Given the description of an element on the screen output the (x, y) to click on. 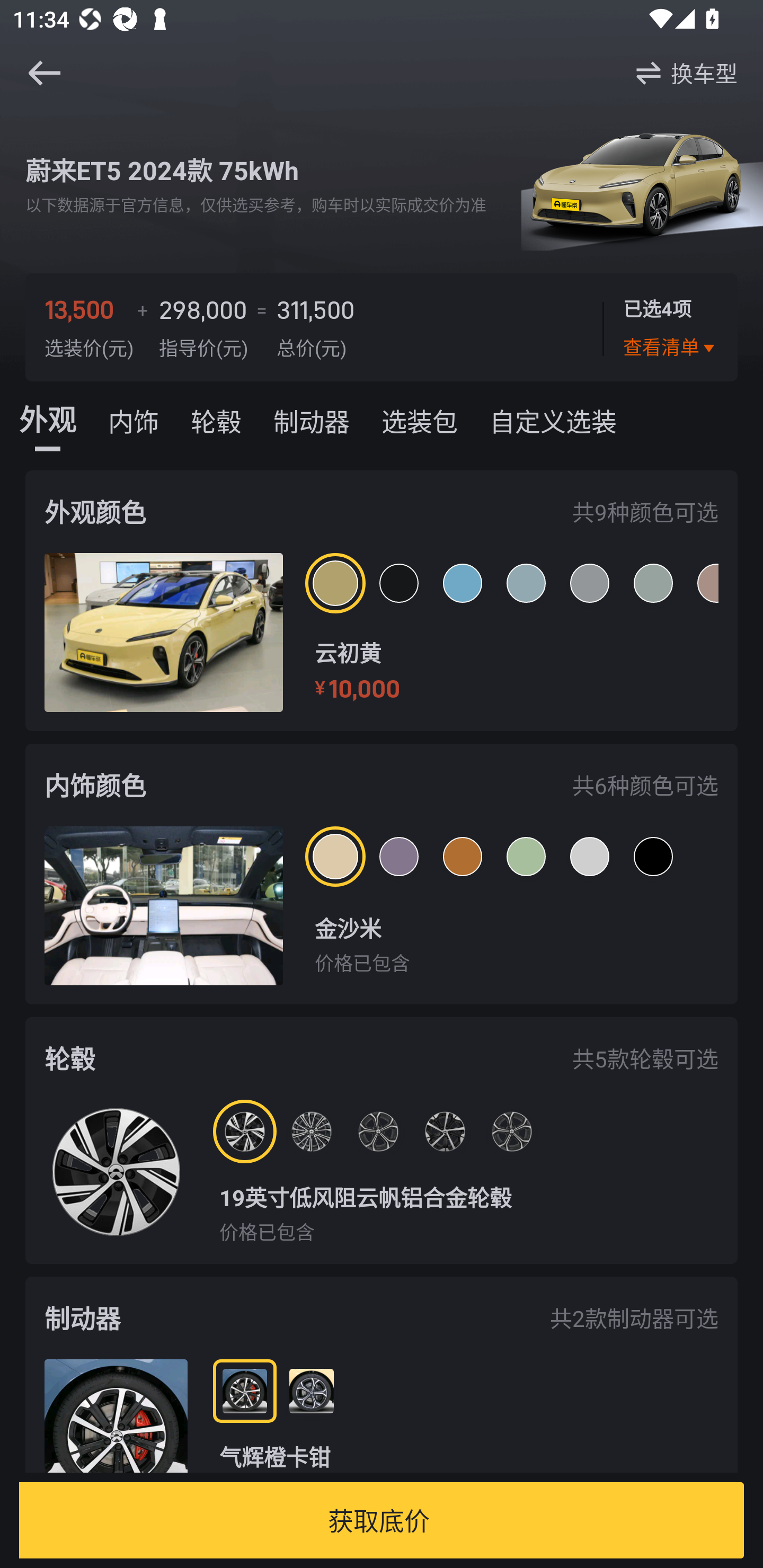
 (44, 72)
已选4项 查看清单 (669, 326)
外观 (47, 418)
内饰 (133, 418)
轮毂 (215, 418)
制动器 (311, 418)
选装包 (419, 418)
自定义选装 (552, 418)
获取底价 (378, 1519)
